Given the description of an element on the screen output the (x, y) to click on. 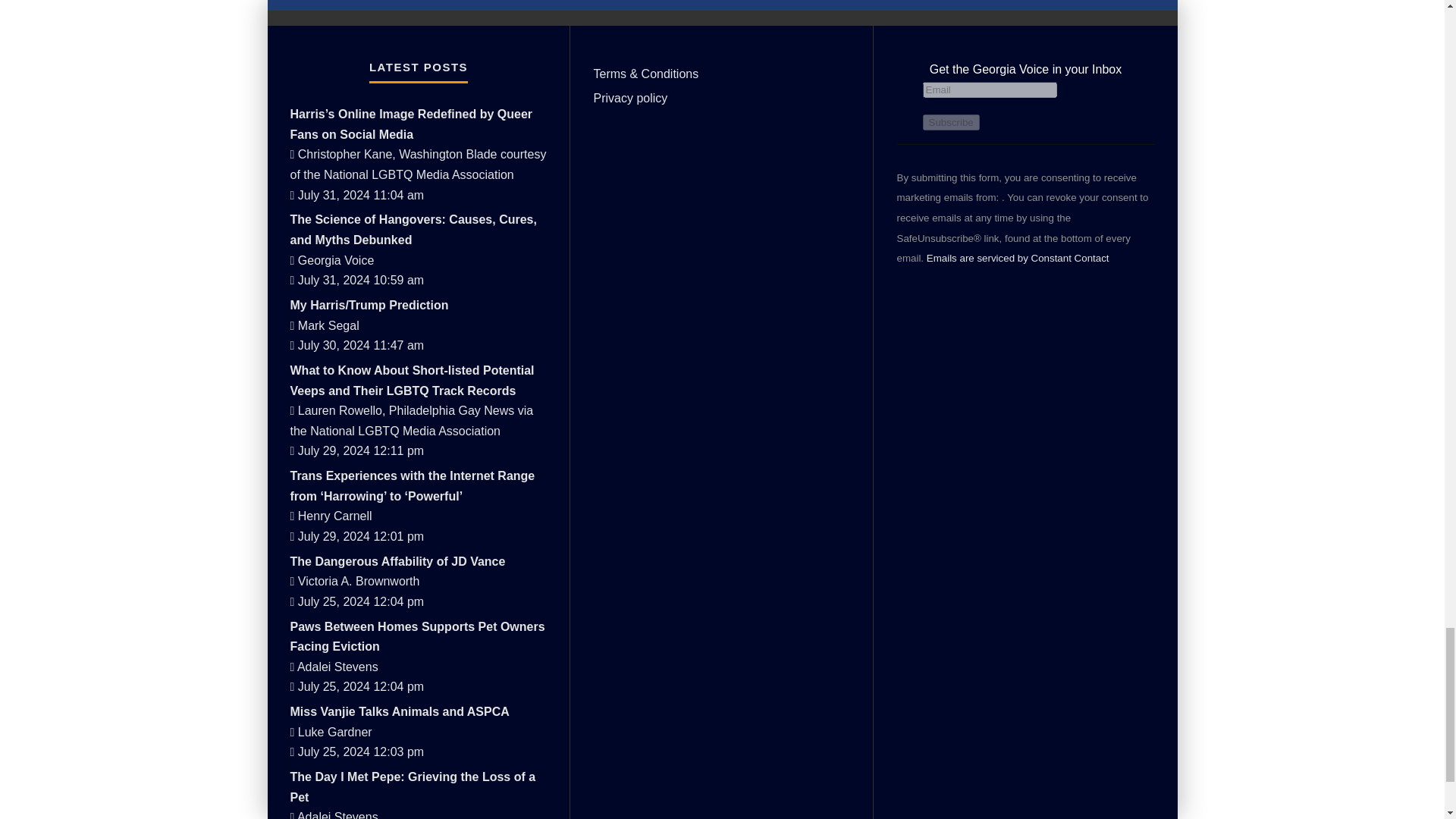
Subscribe (949, 122)
